Given the description of an element on the screen output the (x, y) to click on. 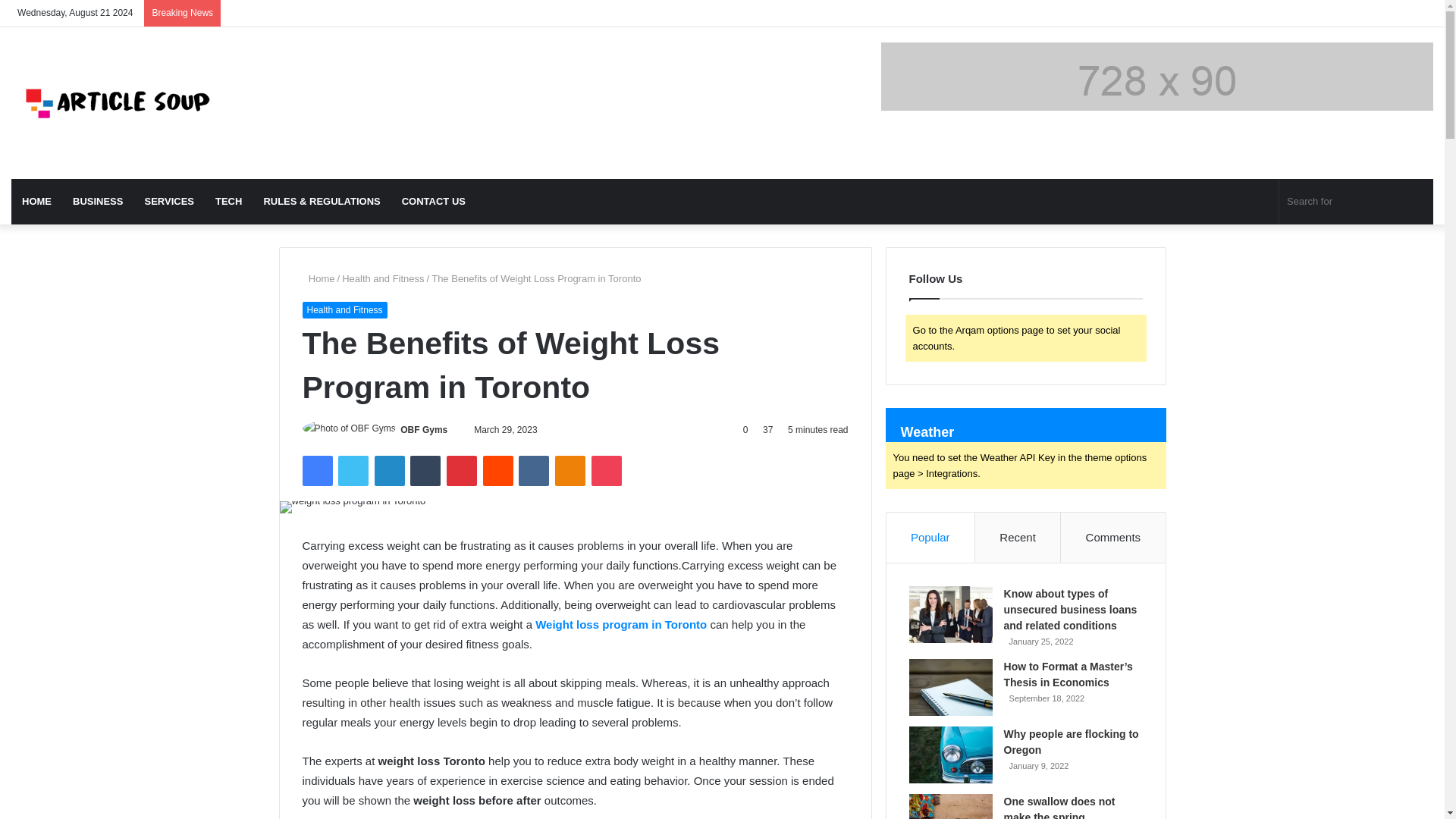
Twitter (352, 470)
OBF Gyms (423, 429)
LinkedIn (389, 470)
Facebook (316, 470)
OBF Gyms (423, 429)
LinkedIn (389, 470)
SERVICES (169, 201)
Home (317, 278)
Facebook (316, 470)
HOME (36, 201)
